Given the description of an element on the screen output the (x, y) to click on. 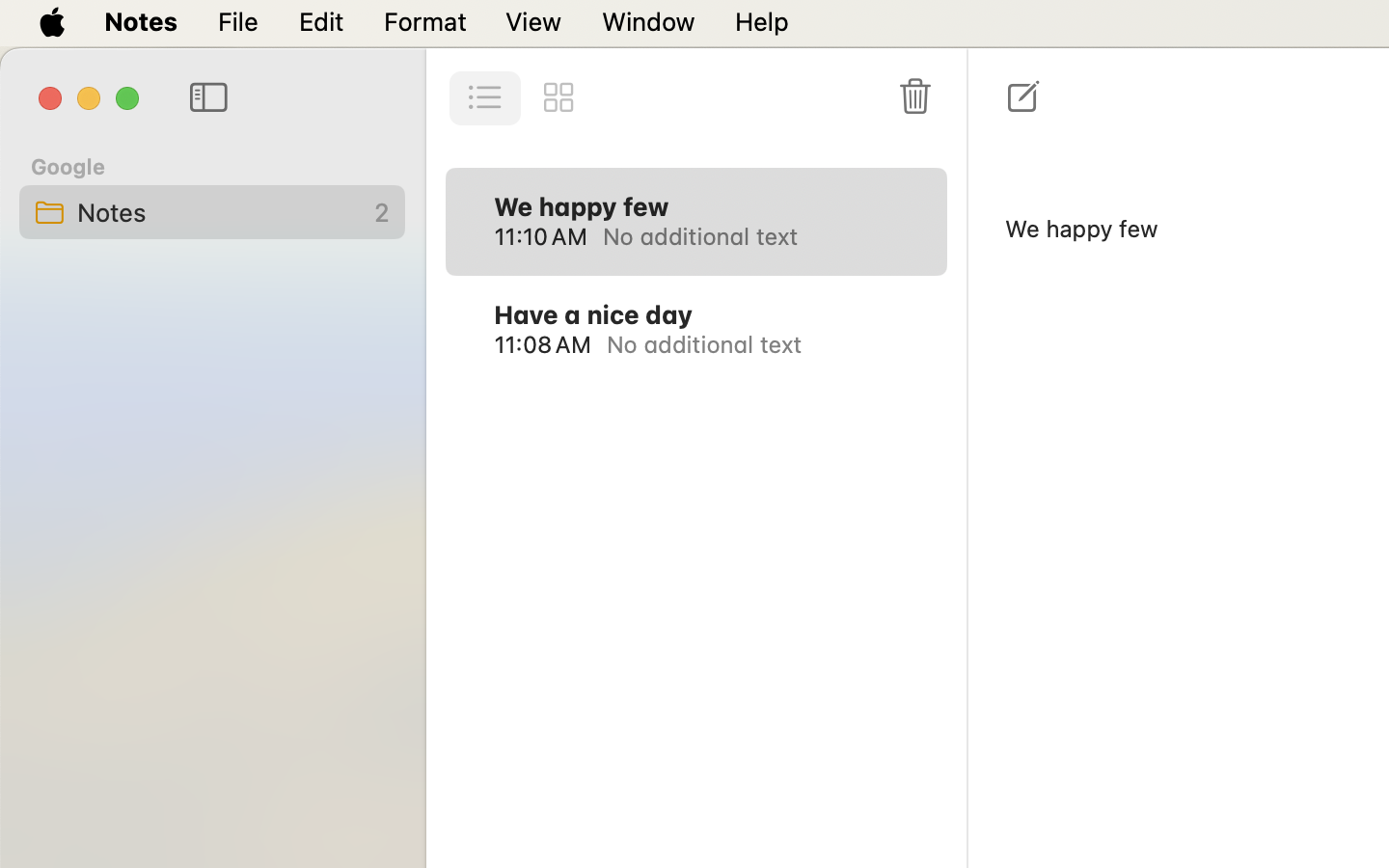
Google Element type: AXStaticText (68, 165)
